Given the description of an element on the screen output the (x, y) to click on. 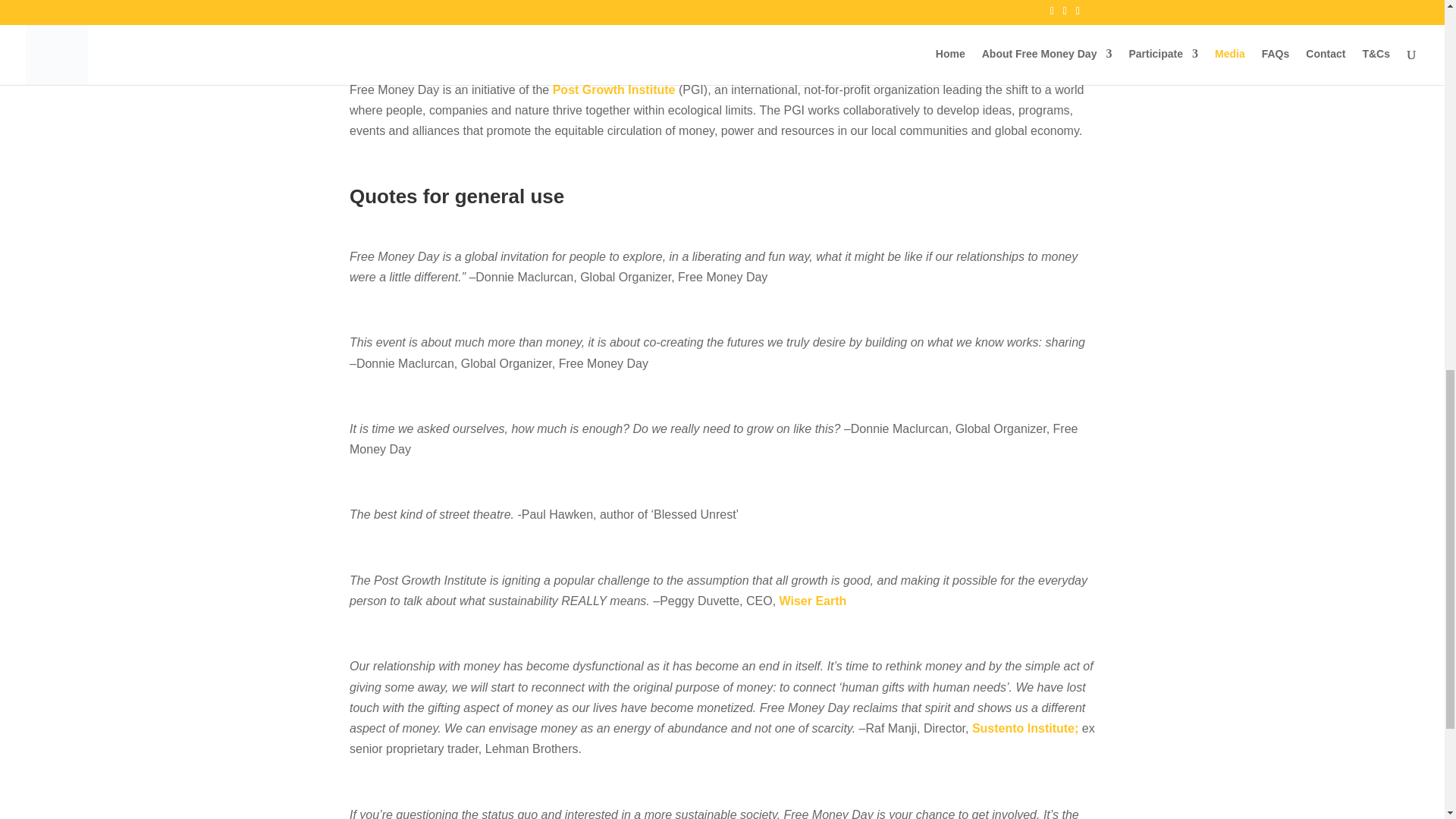
Sustento Institute; (1025, 727)
Wiser Earth (812, 600)
Post Growth Institute (614, 89)
